Given the description of an element on the screen output the (x, y) to click on. 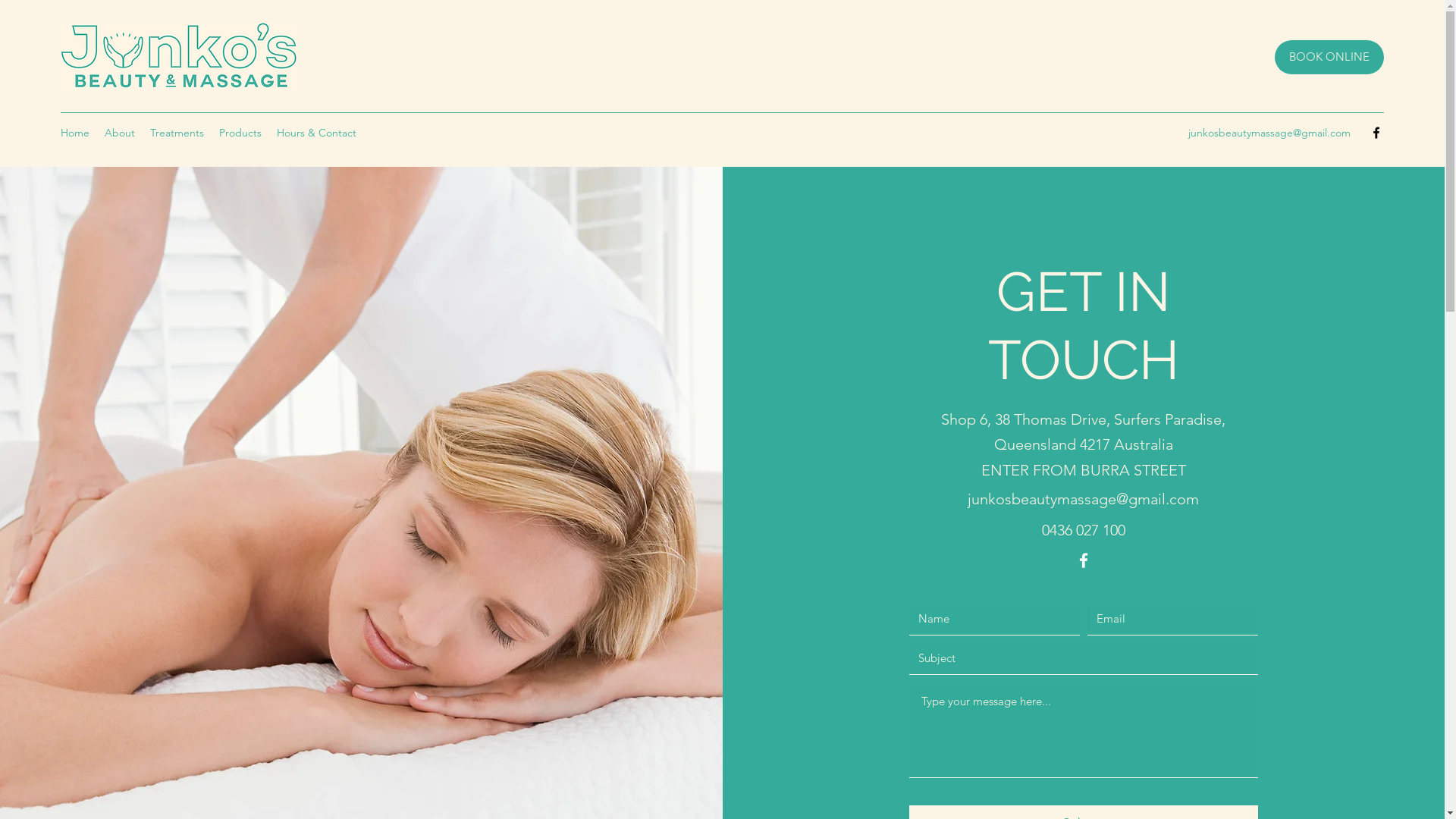
Home Element type: text (75, 132)
BOOK ONLINE Element type: text (1328, 57)
Products Element type: text (240, 132)
Treatments Element type: text (176, 132)
junkosbeautymassage@gmail.com Element type: text (1082, 498)
Hours & Contact Element type: text (316, 132)
junkosbeautymassage@gmail.com Element type: text (1269, 132)
About Element type: text (119, 132)
